Given the description of an element on the screen output the (x, y) to click on. 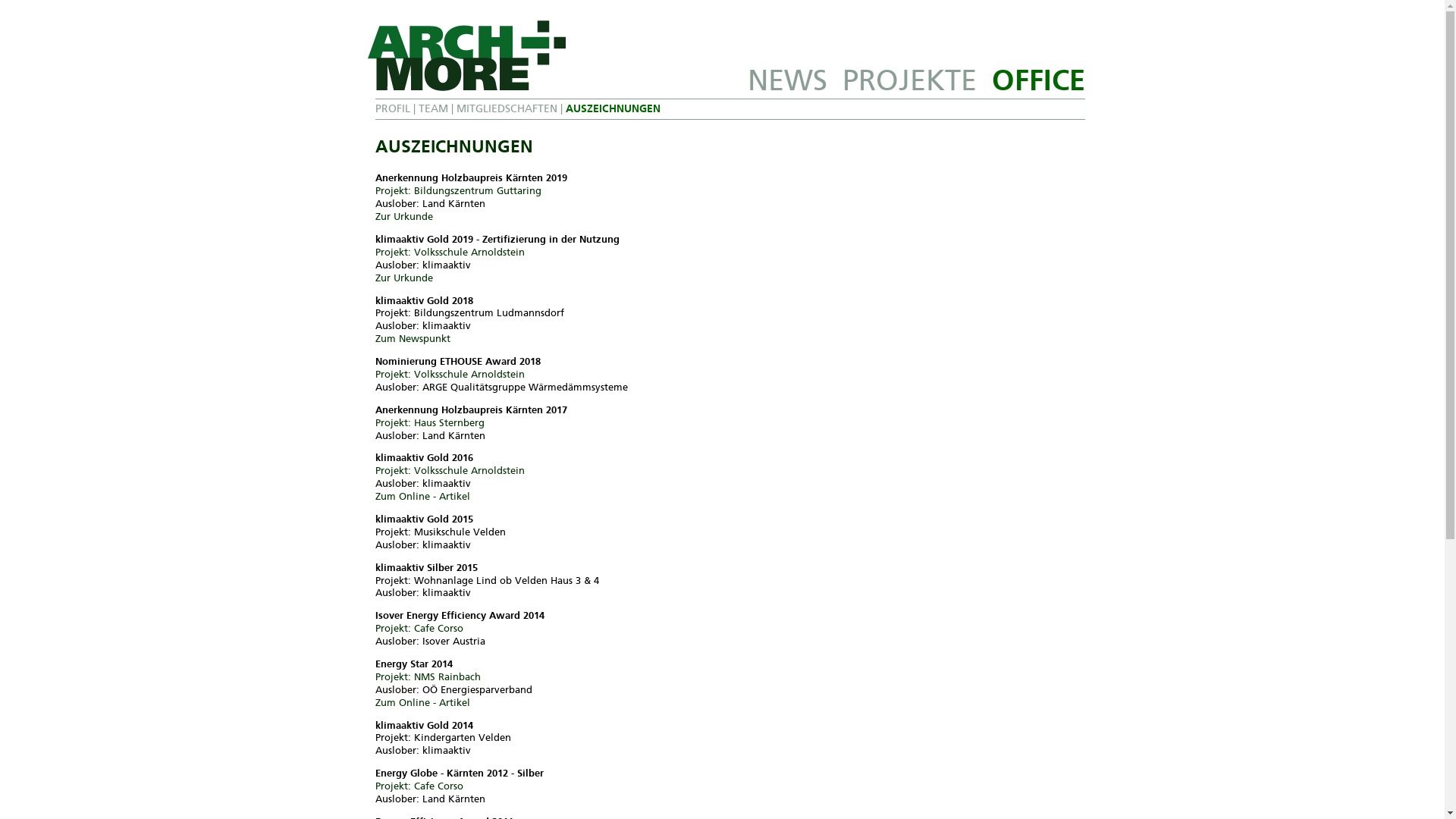
Projekt: Cafe Corso Element type: text (418, 627)
Projekt: Volksschule Arnoldstein Element type: text (449, 470)
PROFIL Element type: text (391, 109)
Zum Newspunkt Element type: text (411, 338)
Projekt: Volksschule Arnoldstein Element type: text (449, 373)
AUSZEICHNUNGEN Element type: text (612, 109)
OFFICE Element type: text (1038, 80)
Zum Online - Artikel Element type: text (421, 496)
Zur Urkunde Element type: text (403, 277)
PROJEKTE Element type: text (908, 80)
NEWS Element type: text (787, 80)
Projekt: Volksschule Arnoldstein Element type: text (449, 251)
Projekt: Cafe Corso Element type: text (418, 785)
Projekt: Haus Sternberg Element type: text (428, 422)
Projekt: NMS Rainbach Element type: text (427, 676)
Zur Urkunde Element type: text (403, 216)
Zum Online - Artikel Element type: text (421, 702)
MITGLIEDSCHAFTEN Element type: text (506, 109)
TEAM Element type: text (433, 109)
Projekt: Bildungszentrum Guttaring Element type: text (457, 190)
